Given the description of an element on the screen output the (x, y) to click on. 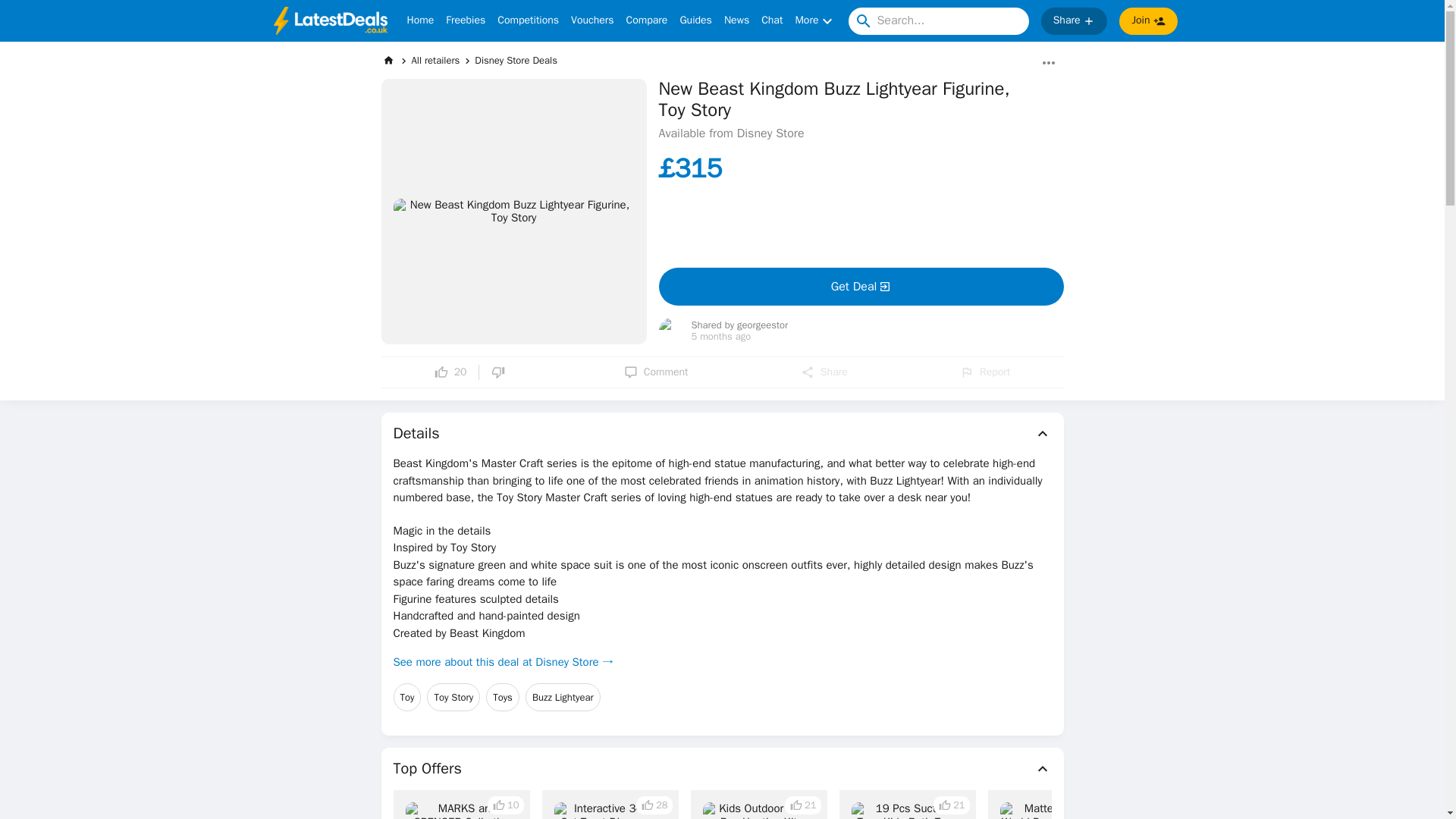
Disney Store Deals (515, 60)
Share (1074, 21)
Chat (772, 21)
Shared by georgeestor (740, 325)
Home (419, 21)
All retailers (435, 60)
Join (1147, 21)
Details (722, 434)
Toys (502, 697)
Toy Story (453, 697)
Top Offers (722, 769)
More (814, 21)
News (736, 21)
Buzz Lightyear (562, 697)
Get Deal (860, 286)
